Given the description of an element on the screen output the (x, y) to click on. 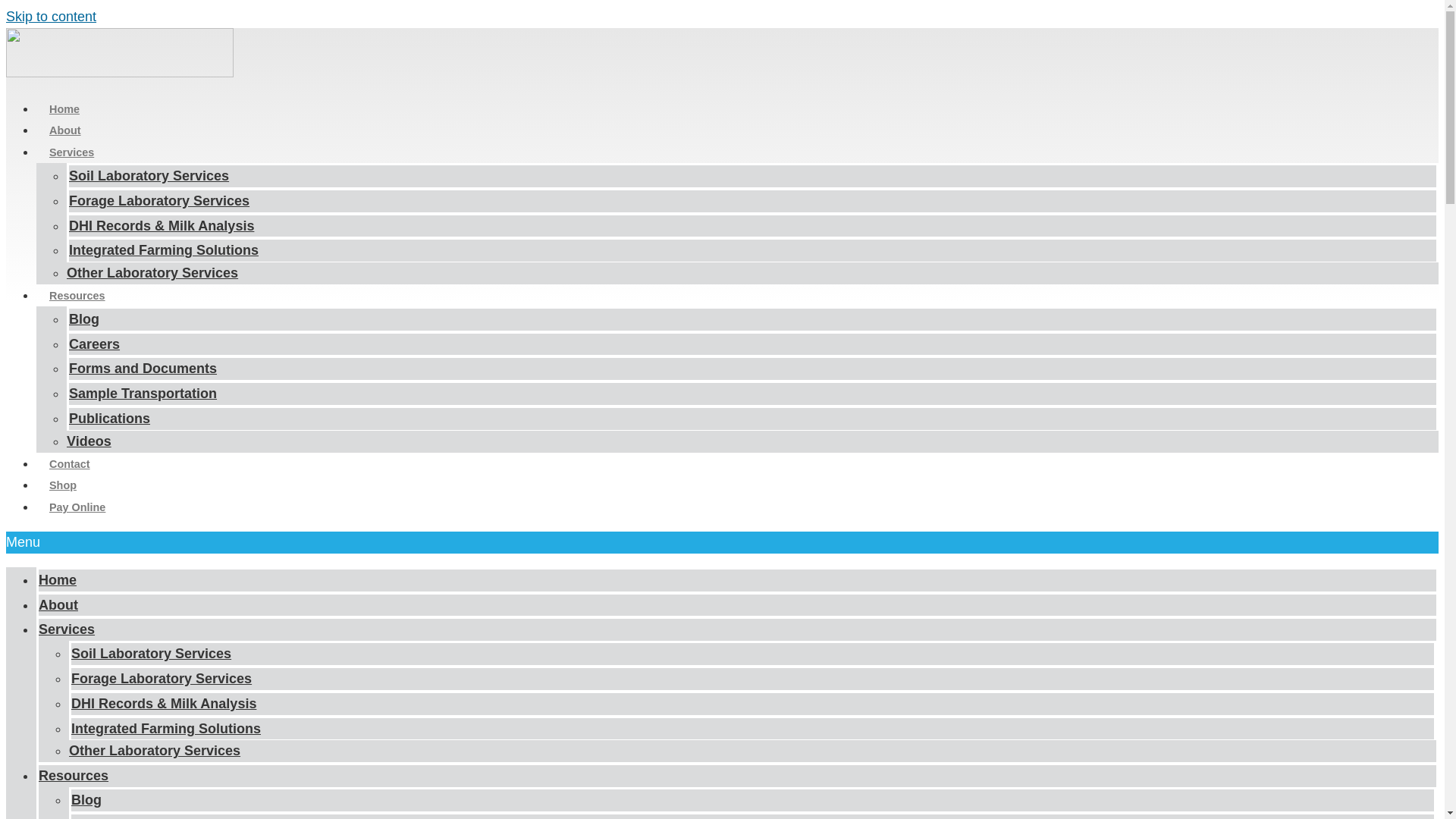
Soil Laboratory Services (148, 175)
Forms and Documents (142, 368)
Integrated Farming Solutions (163, 249)
Resources (76, 295)
About (58, 605)
Pay Online (76, 507)
Blog (83, 319)
Careers (96, 811)
Publications (108, 418)
Soil Laboratory Services (151, 653)
Home (64, 109)
Shop (62, 485)
Services (66, 629)
Other Laboratory Services (152, 272)
Sample Transportation (142, 393)
